Given the description of an element on the screen output the (x, y) to click on. 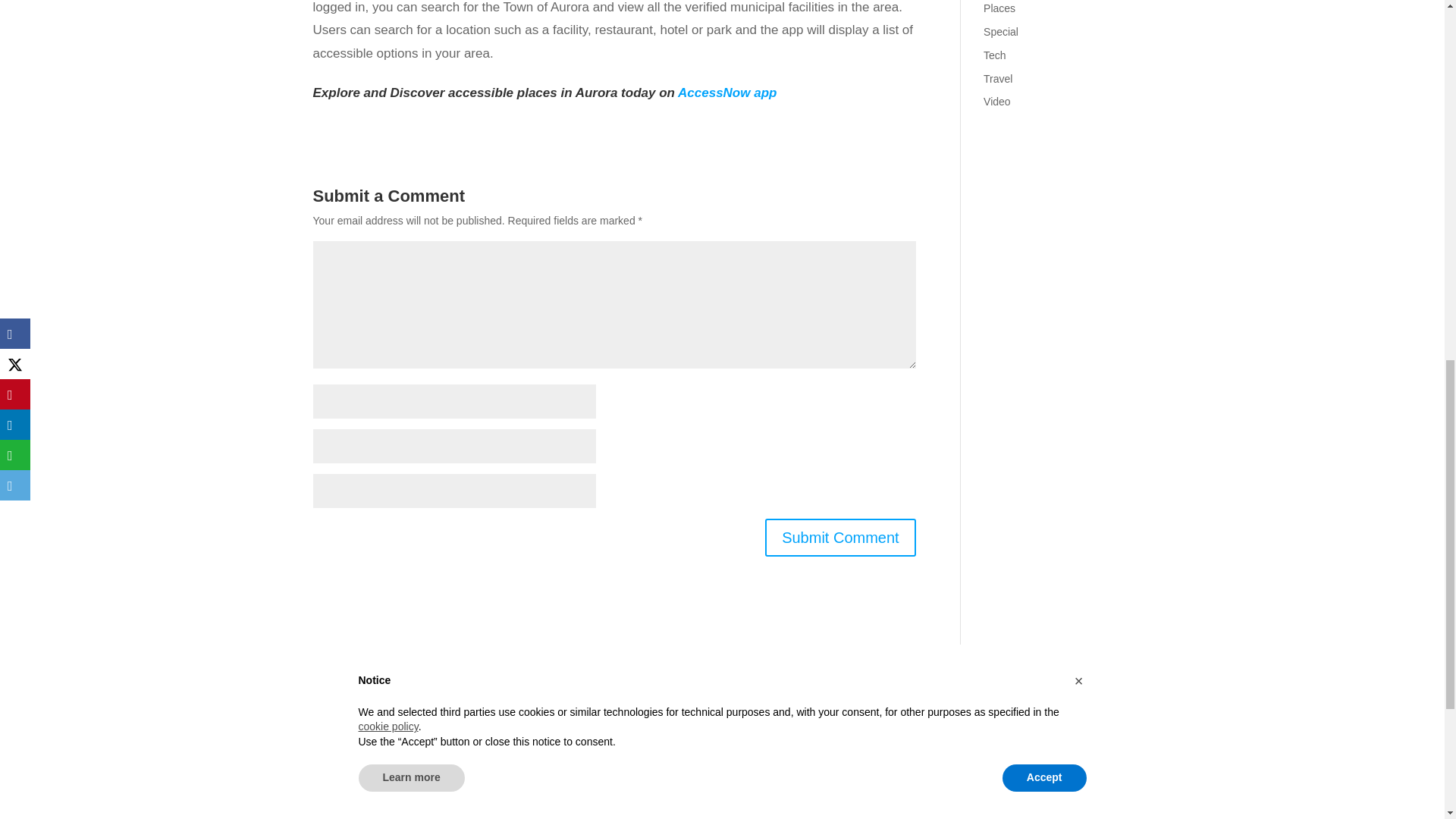
Submit Comment (840, 537)
Submit Comment (840, 537)
AccessNow app (727, 92)
